Given the description of an element on the screen output the (x, y) to click on. 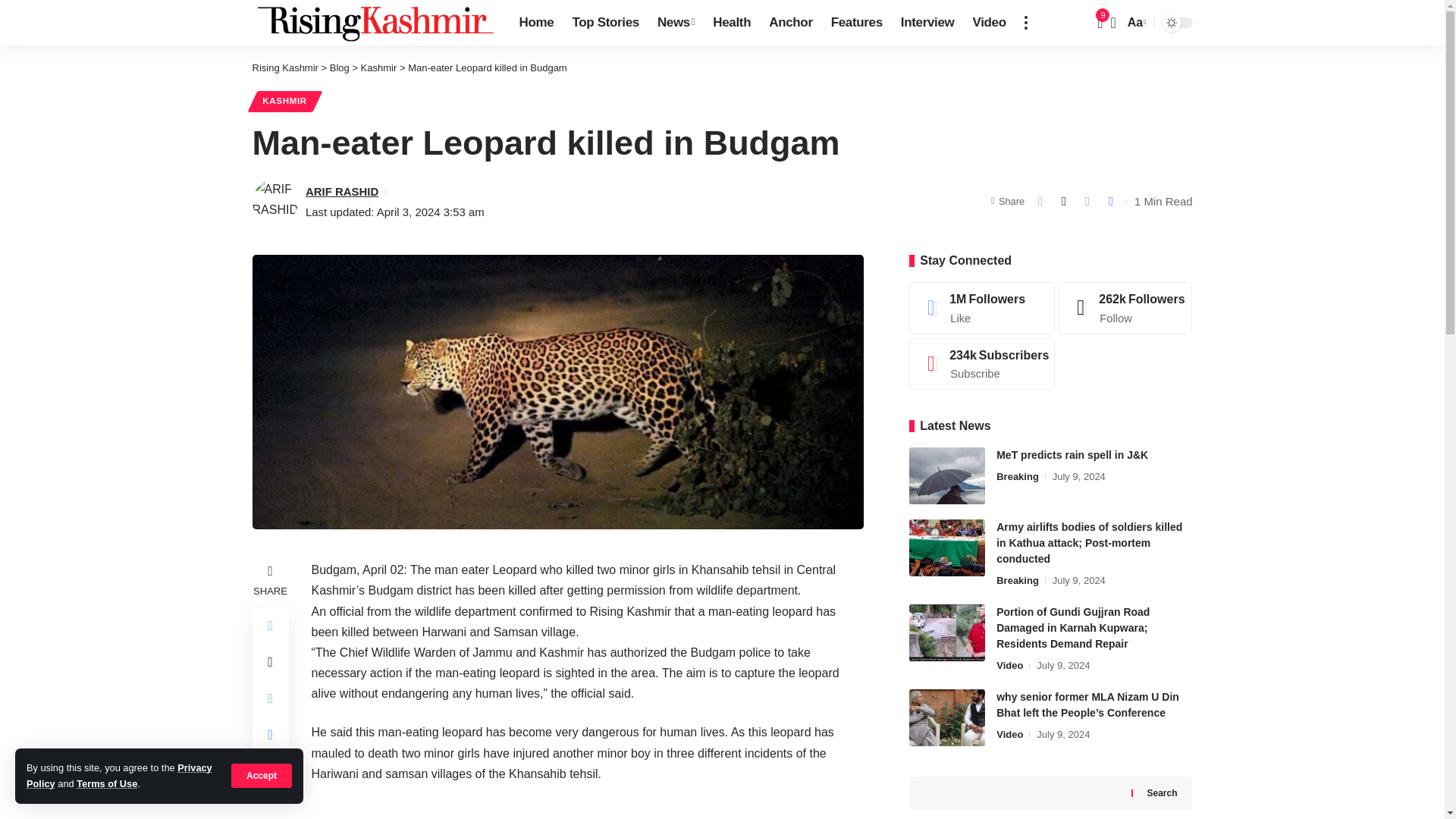
Video (988, 22)
Features (856, 22)
Go to the Kashmir Category archives. (379, 67)
Accept (261, 775)
Privacy Policy (119, 775)
Go to Blog. (339, 67)
Health (731, 22)
Anchor (790, 22)
Terms of Use (106, 783)
Top Stories (604, 22)
Home (535, 22)
Rising Kashmir (373, 22)
News (675, 22)
Go to Rising Kashmir. (284, 67)
